Given the description of an element on the screen output the (x, y) to click on. 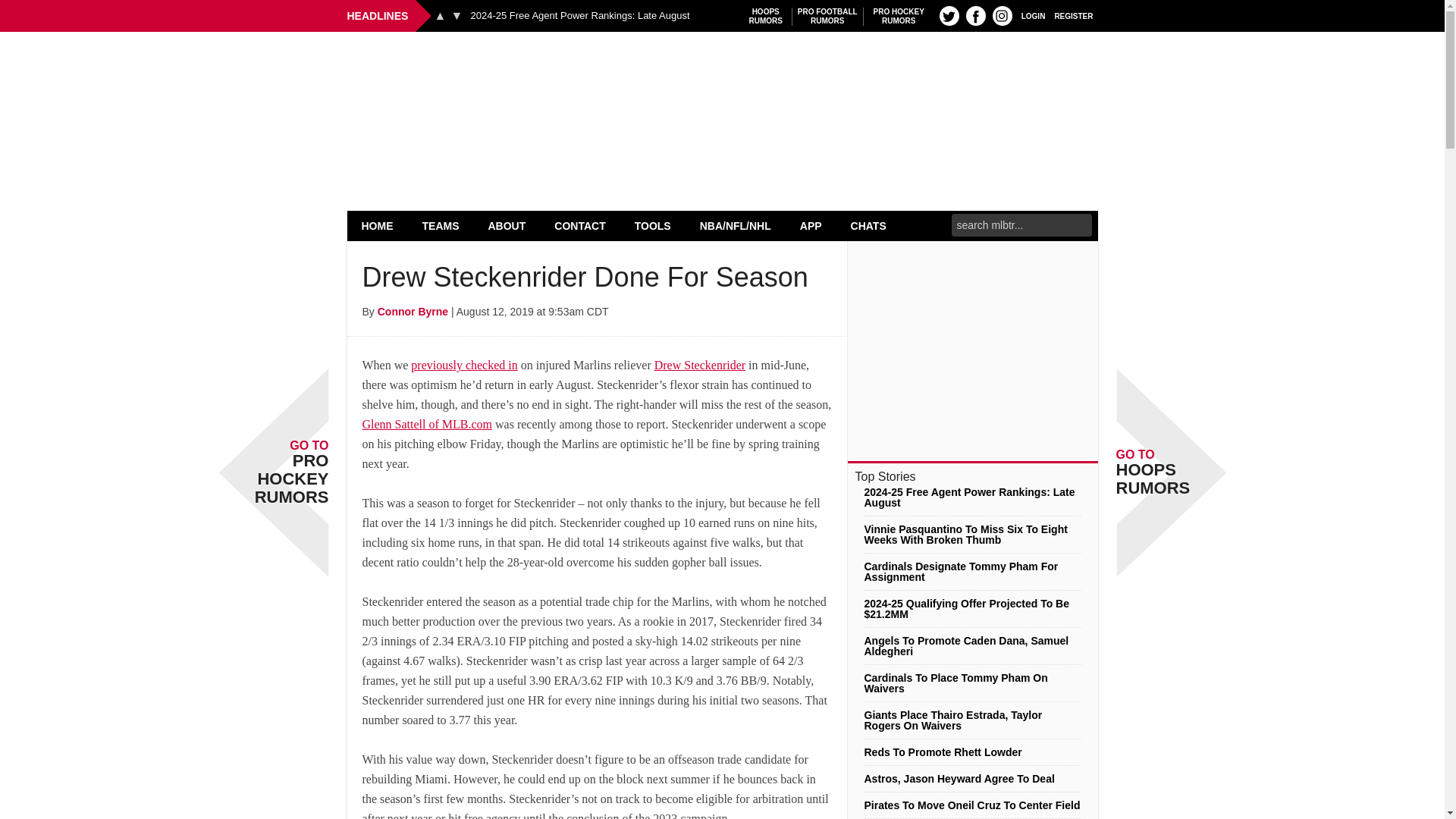
FB profile (975, 15)
2024-25 Free Agent Power Rankings: Late August (579, 15)
TEAMS (440, 225)
MLB Trade Rumors (722, 69)
LOGIN (1032, 15)
HOME (898, 16)
REGISTER (377, 225)
Search (1073, 15)
